Given the description of an element on the screen output the (x, y) to click on. 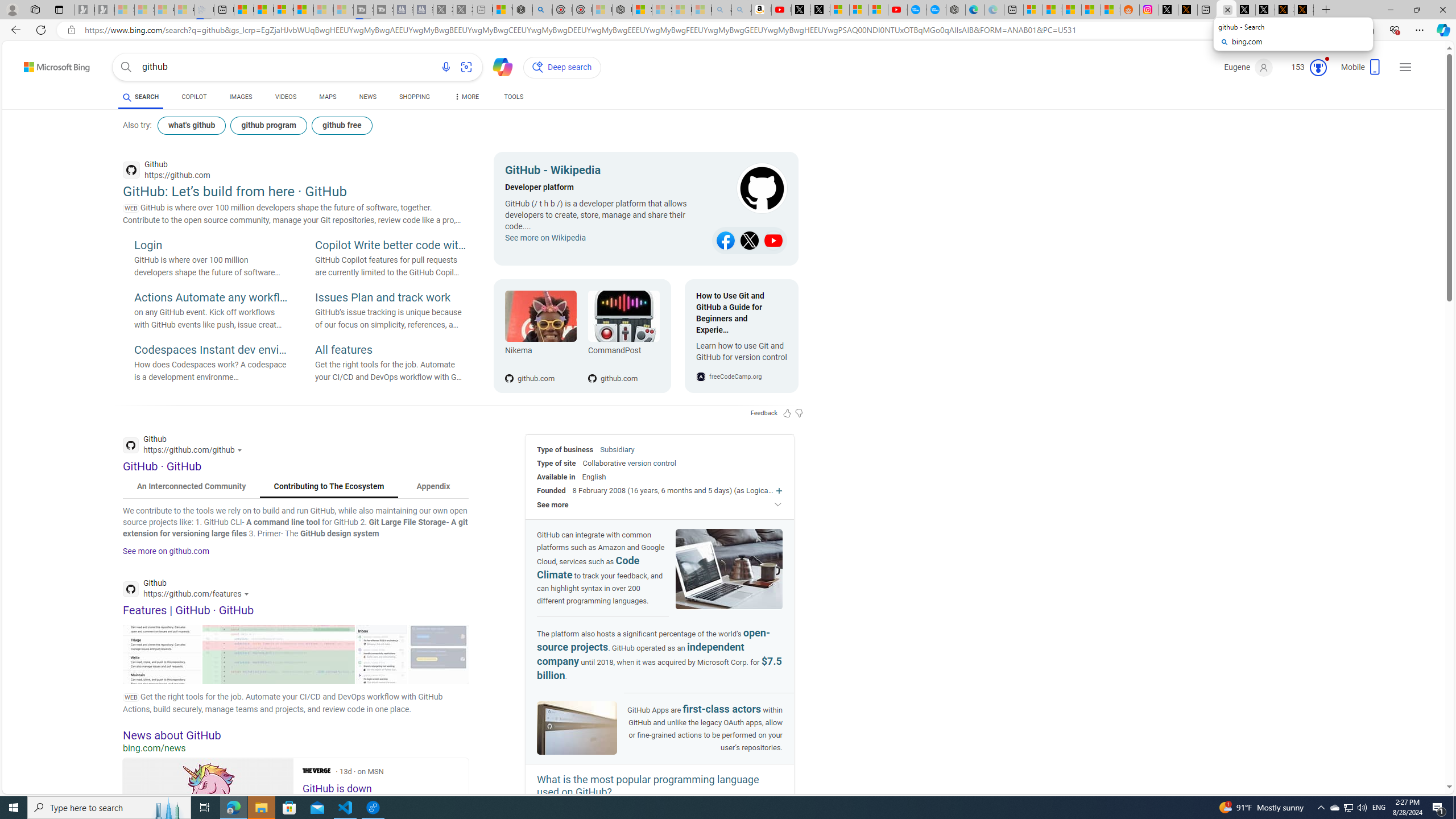
News about GitHub (295, 735)
MAPS (327, 98)
Appendix (432, 486)
github program (269, 125)
The Verge on MSN.com (316, 770)
Chat (497, 65)
Search more (1423, 753)
Image of GitHub (577, 728)
version control (651, 462)
Back to Bing search (50, 64)
